Given the description of an element on the screen output the (x, y) to click on. 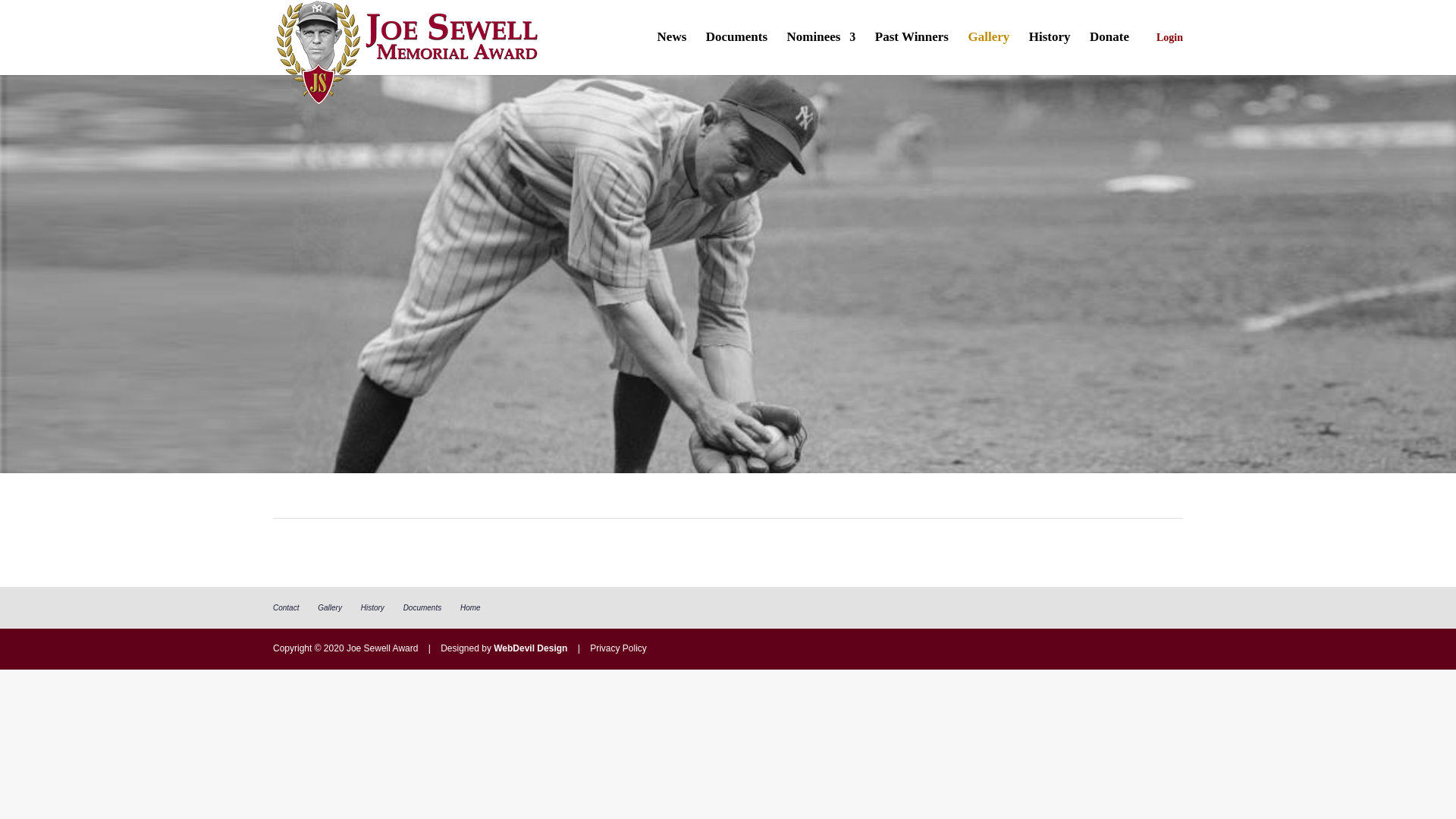
Past Winners (912, 52)
   Login (1165, 53)
Gallery (988, 52)
History (1049, 52)
Nominees (821, 52)
News (672, 52)
Donate (1109, 52)
Documents (736, 52)
